Given the description of an element on the screen output the (x, y) to click on. 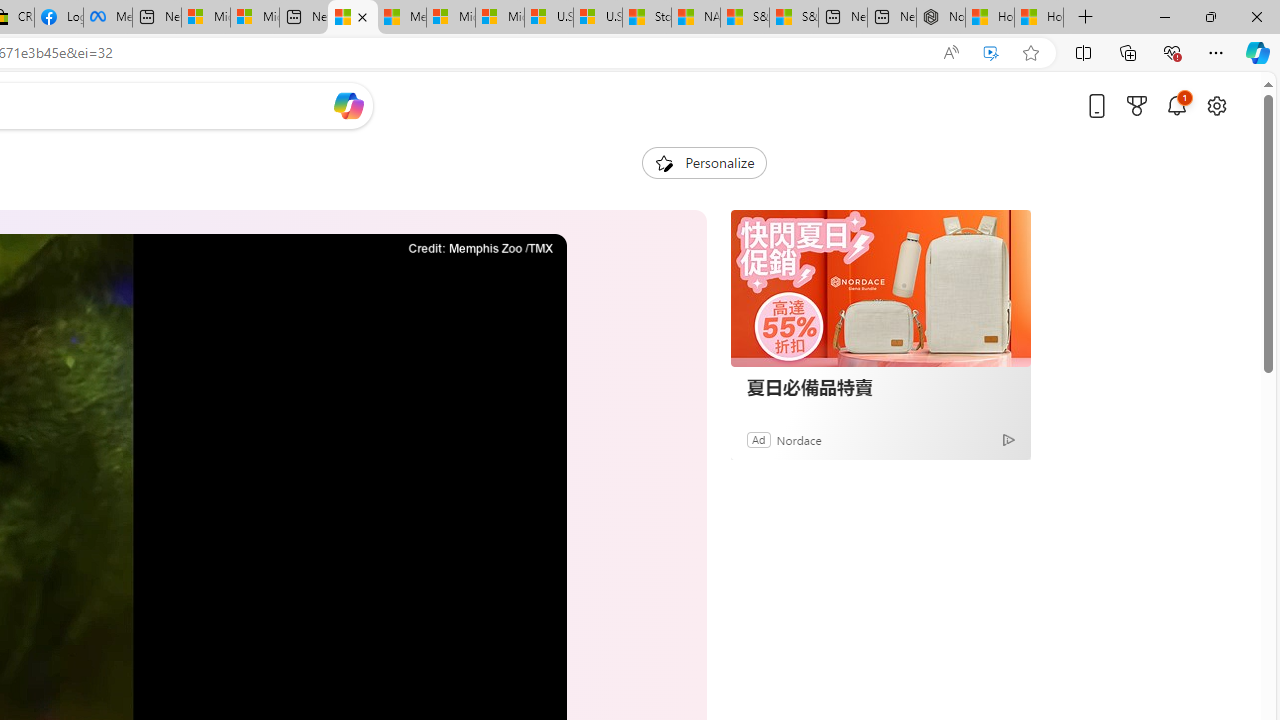
Enhance video (991, 53)
Log into Facebook (58, 17)
